Given the description of an element on the screen output the (x, y) to click on. 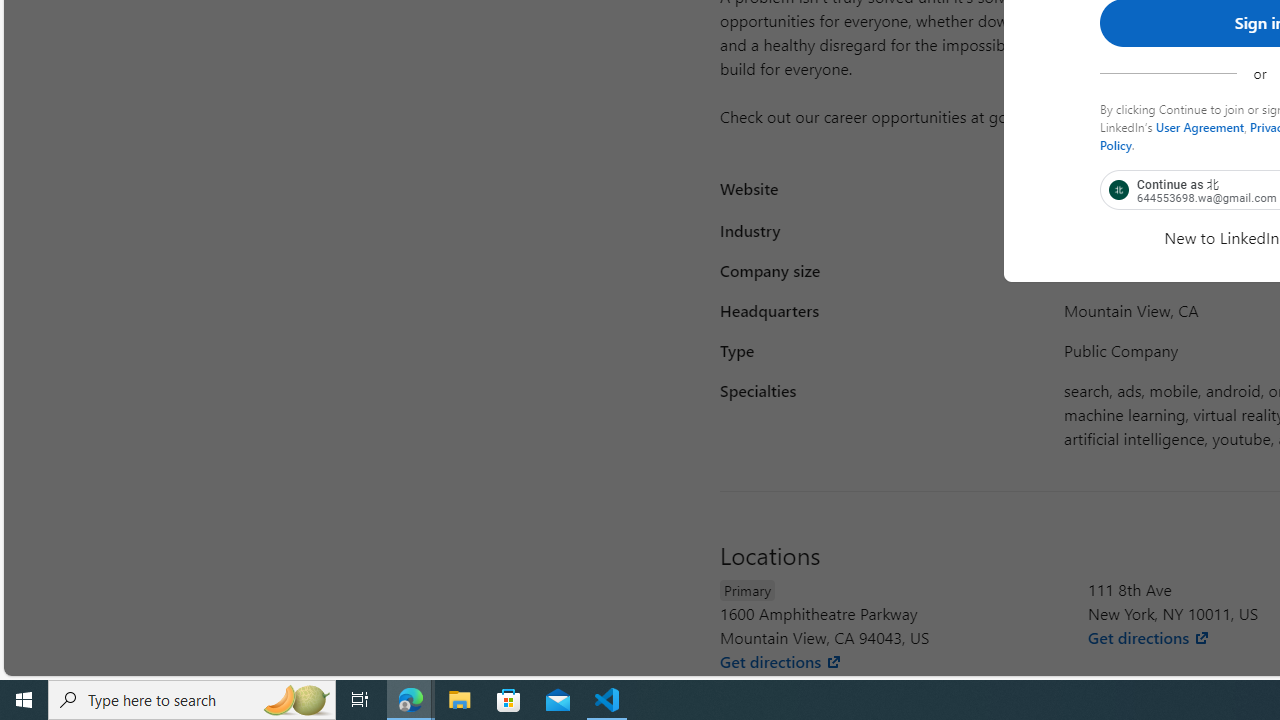
User Agreement (1199, 126)
